Given the description of an element on the screen output the (x, y) to click on. 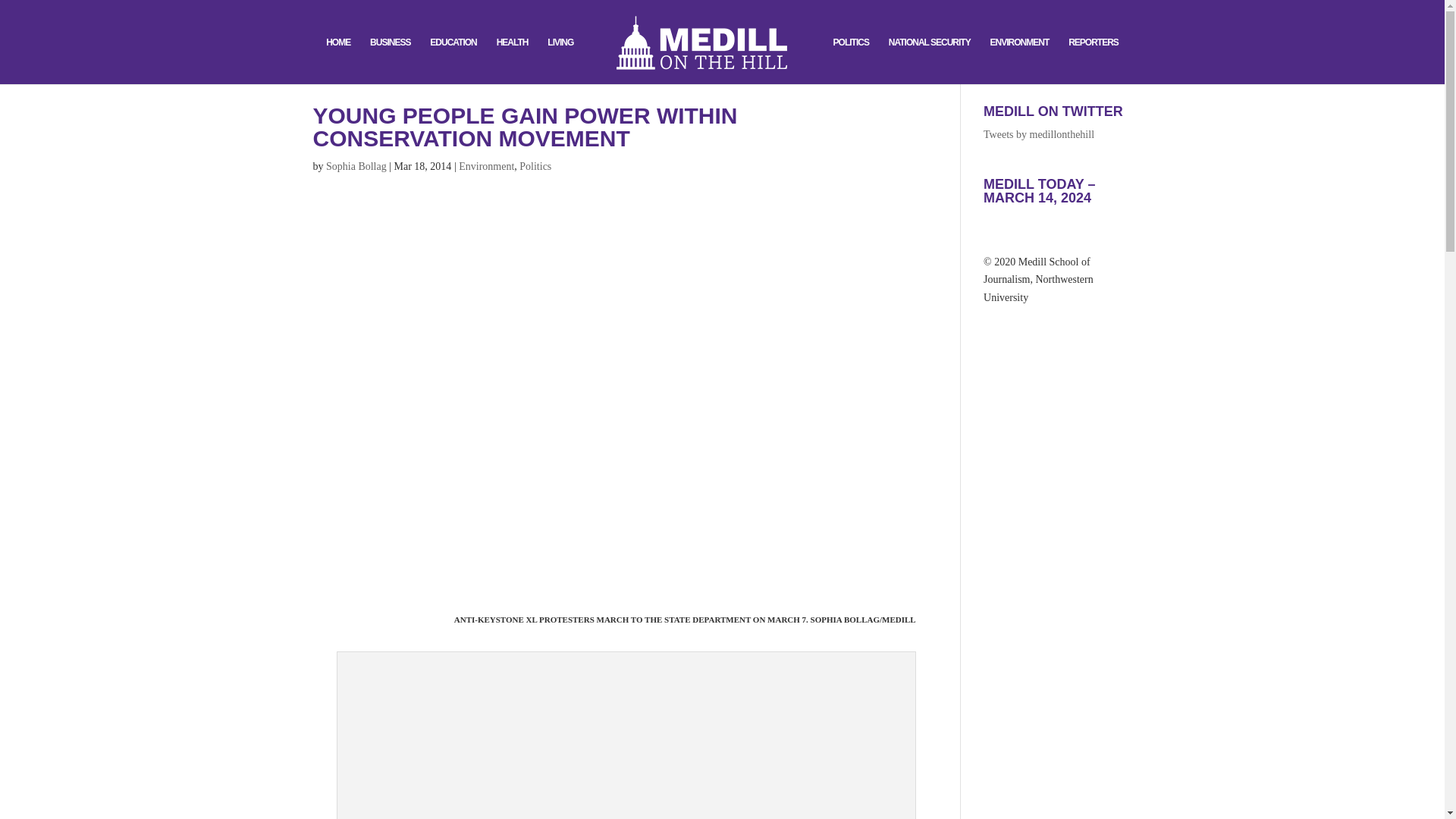
HOME (338, 60)
LIVING (560, 60)
NATIONAL SECURITY (929, 60)
ENVIRONMENT (1019, 60)
Sophia Bollag (356, 165)
Politics (535, 165)
POLITICS (850, 60)
BUSINESS (389, 60)
HEALTH (512, 60)
Environment (485, 165)
REPORTERS (1093, 60)
Tweets by medillonthehill (1039, 134)
Posts by Sophia Bollag (356, 165)
EDUCATION (452, 60)
